Given the description of an element on the screen output the (x, y) to click on. 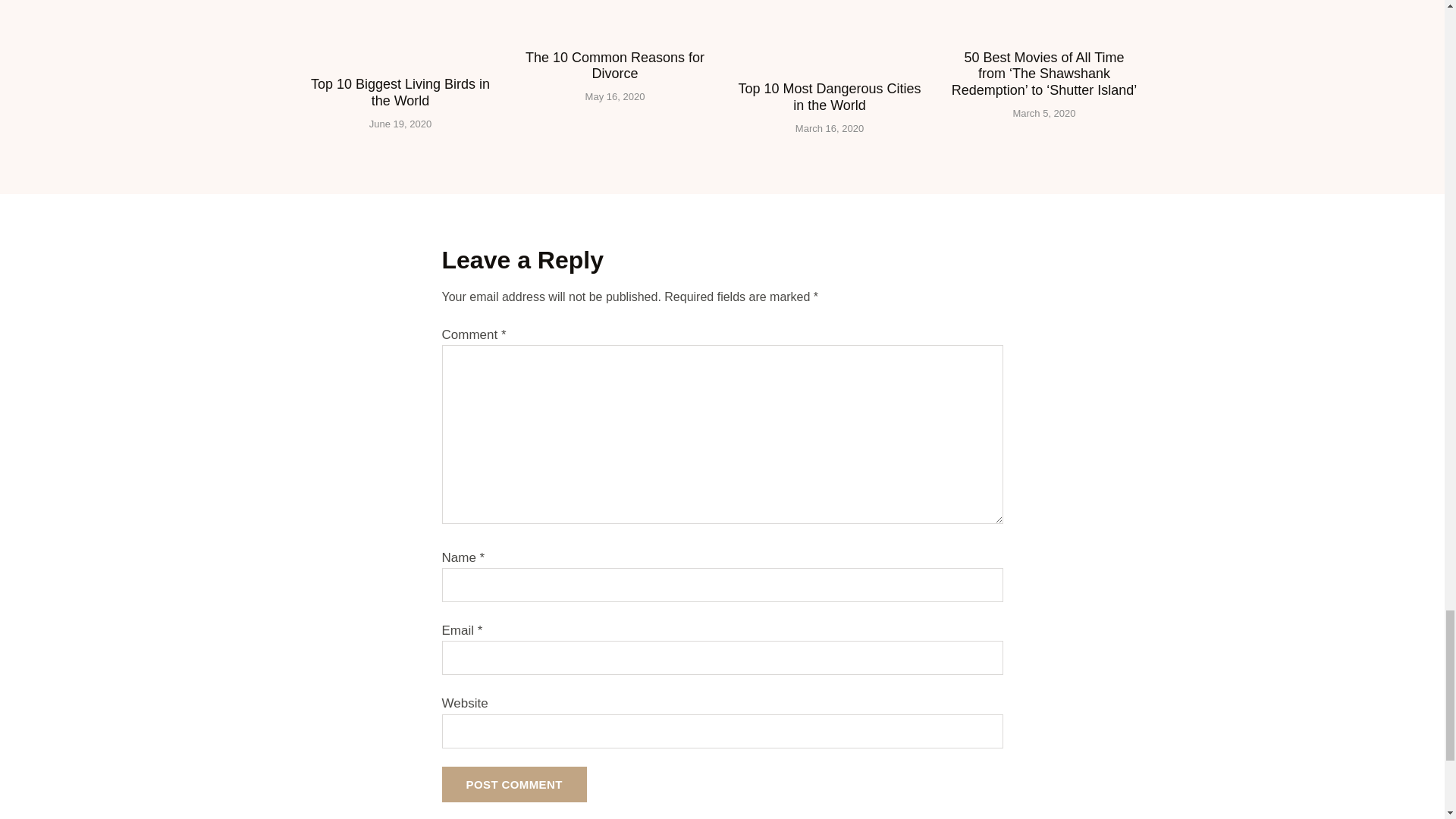
Post Comment (513, 784)
